Given the description of an element on the screen output the (x, y) to click on. 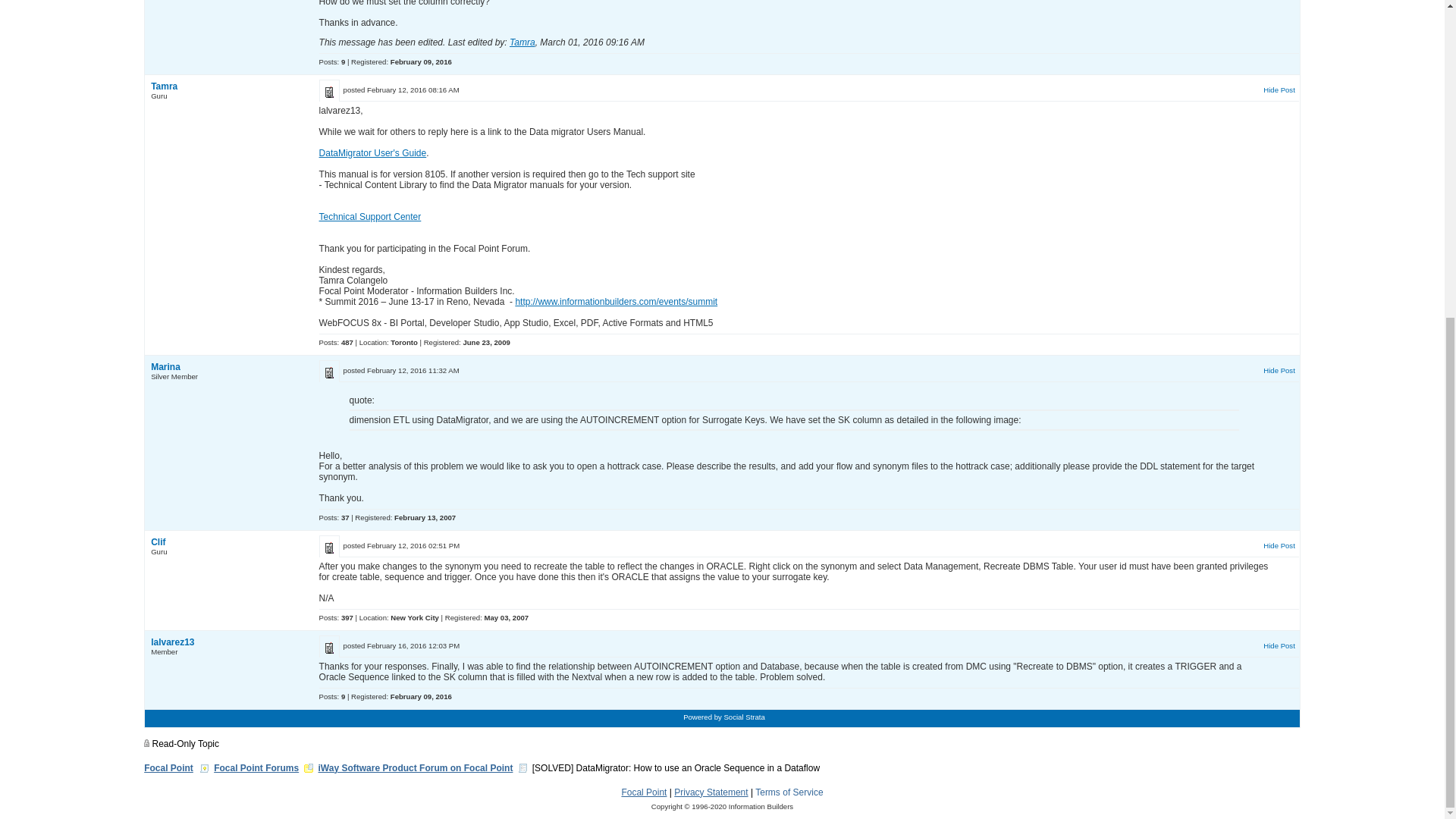
Hop To Forum Categories (308, 768)
